Given the description of an element on the screen output the (x, y) to click on. 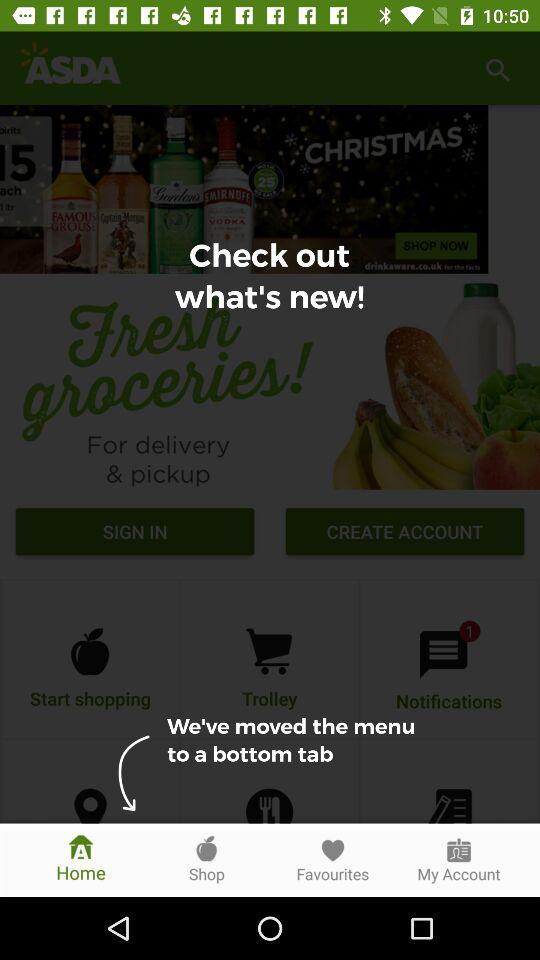
press item next to the sign in icon (404, 534)
